Given the description of an element on the screen output the (x, y) to click on. 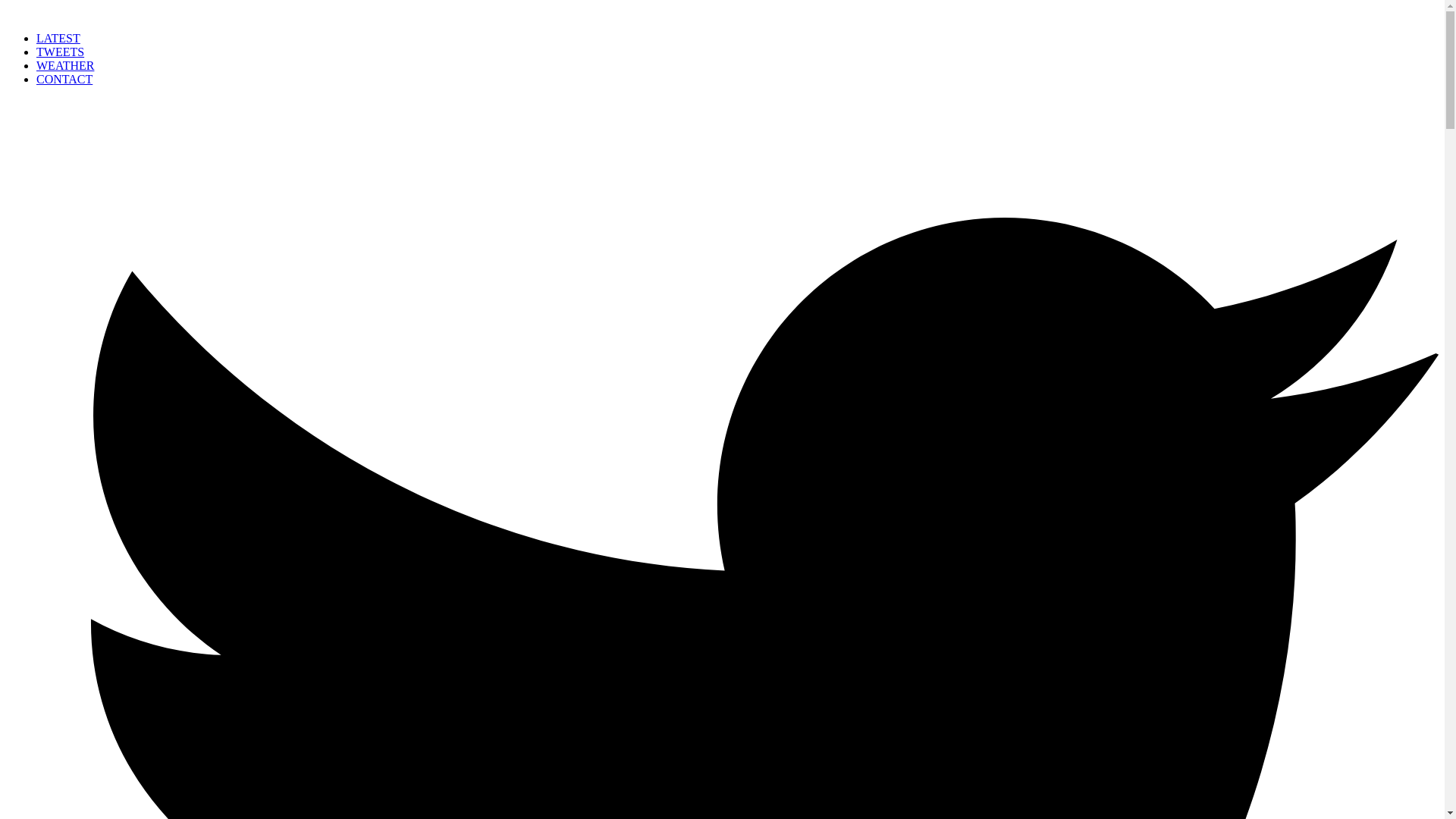
TWEETS (60, 51)
WEATHER (65, 65)
LATEST (58, 38)
CONTACT (64, 78)
